Given the description of an element on the screen output the (x, y) to click on. 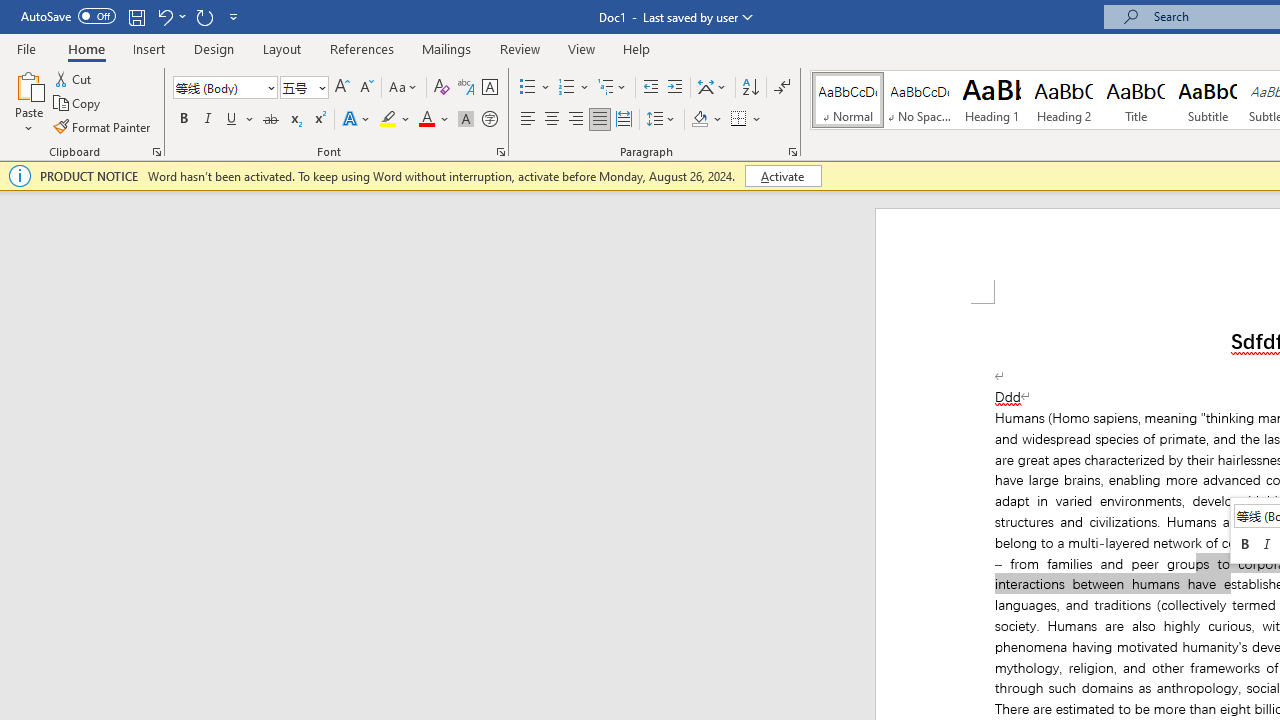
Title (1135, 100)
Undo Typing (170, 15)
